Given the description of an element on the screen output the (x, y) to click on. 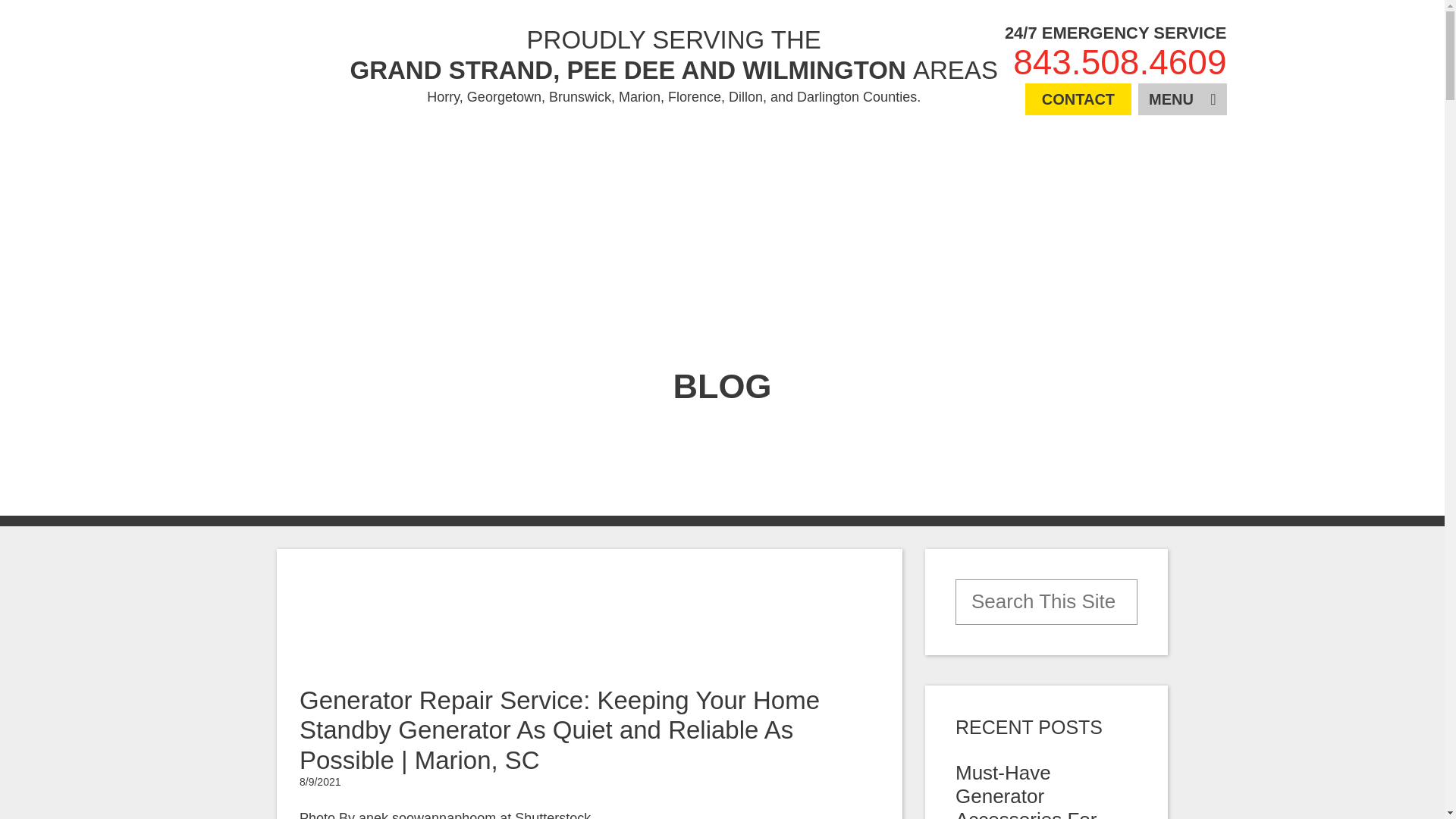
843.508.4609 (1119, 61)
CONTACT (1078, 98)
Must-Have Generator Accessories For Peak Performance  (1039, 790)
Mister Sparky Generator (284, 64)
